Given the description of an element on the screen output the (x, y) to click on. 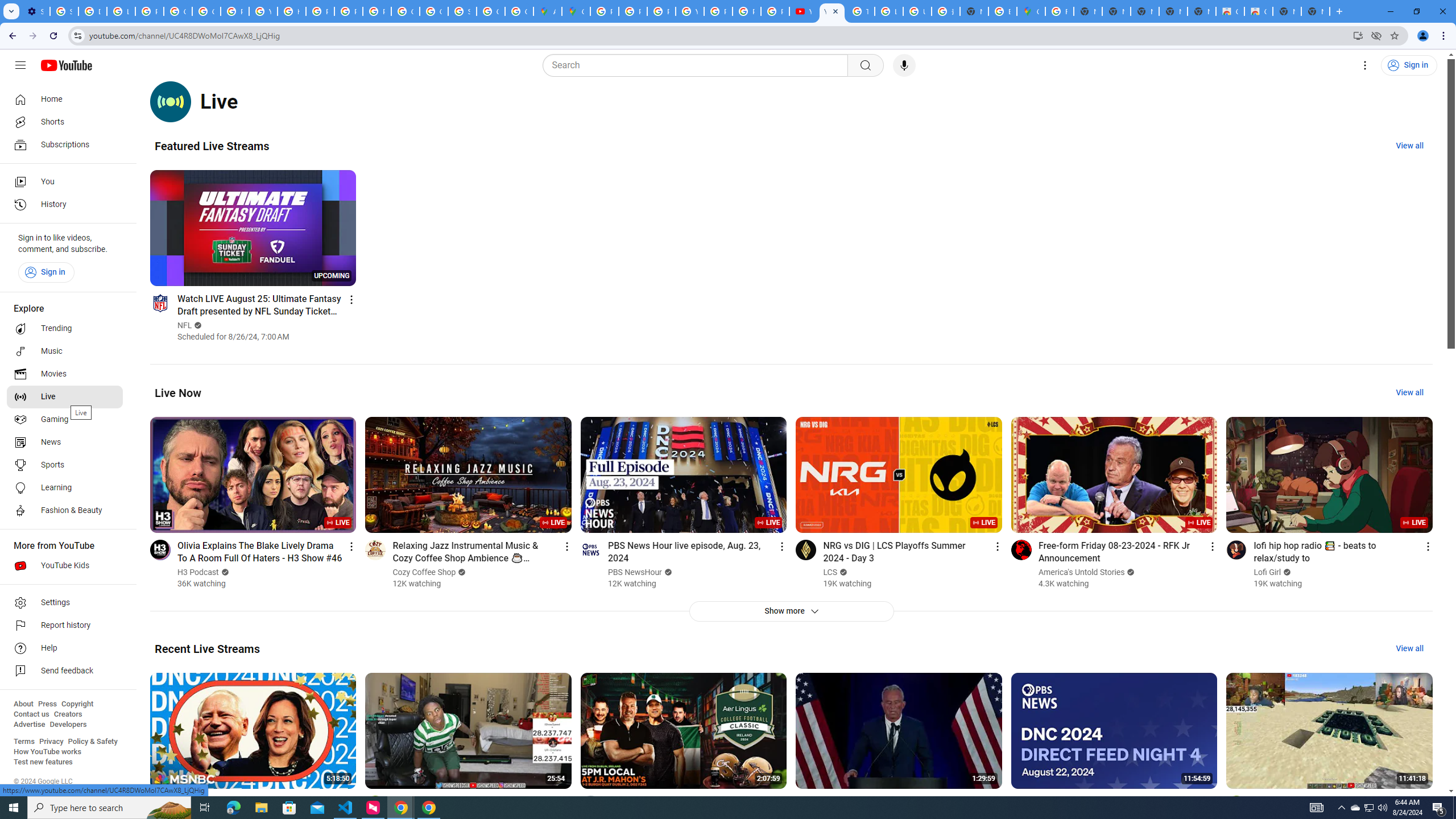
YouTube Home (66, 65)
Google Account Help (178, 11)
How YouTube works (47, 751)
Report history (64, 625)
Trending (64, 328)
Developers (68, 724)
Explore new street-level details - Google Maps Help (1002, 11)
https://scholar.google.com/ (291, 11)
